Given the description of an element on the screen output the (x, y) to click on. 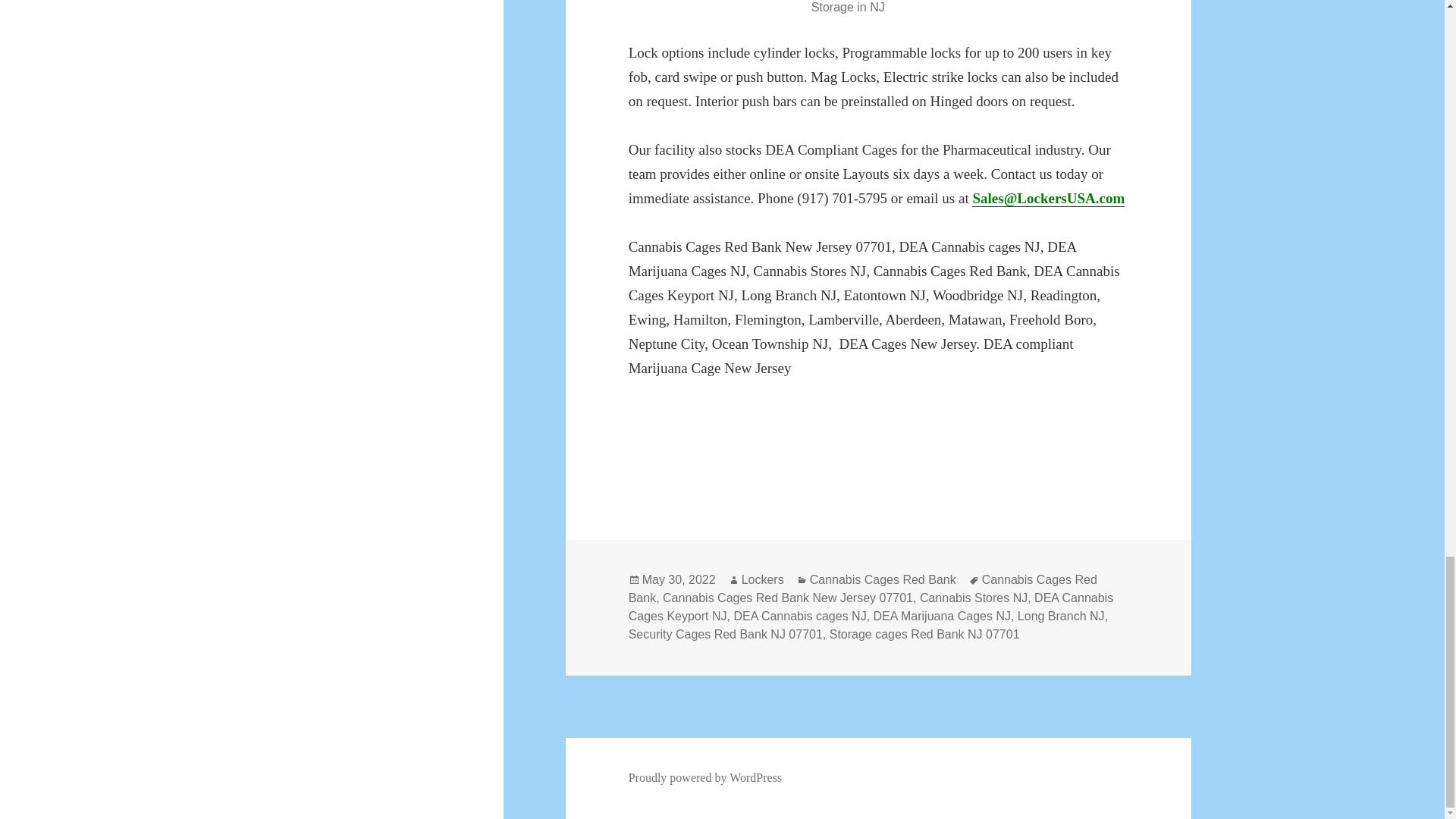
DEA Cannabis Cages Keyport NJ (870, 607)
Cannabis Cages Red Bank New Jersey 07701 (787, 598)
DEA Marijuana Cages NJ (941, 616)
Cannabis Cages Red Bank (862, 589)
Long Branch NJ (1061, 616)
Cannabis Cages Red Bank (882, 580)
Lockers (762, 580)
Cannabis Stores NJ (973, 598)
DEA Cannabis cages NJ (799, 616)
May 30, 2022 (679, 580)
Security Cages Red Bank NJ 07701 (725, 634)
